Given the description of an element on the screen output the (x, y) to click on. 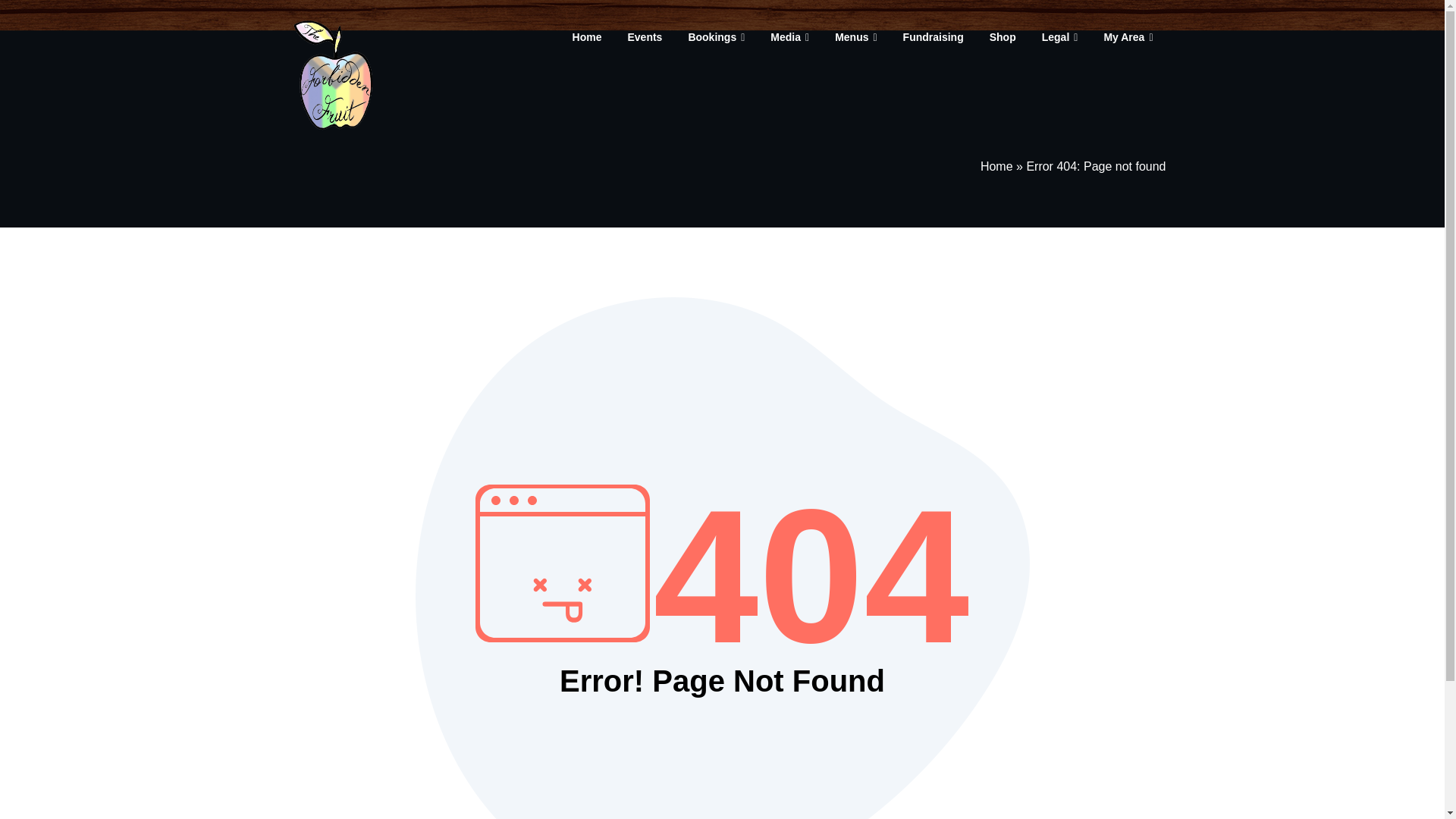
Menus (855, 36)
Media (789, 36)
Bookings (715, 36)
Home (587, 36)
Fundraising (932, 36)
Legal (1060, 36)
TFFHastings (476, 26)
Home (996, 165)
My Area (1128, 36)
Shop (1003, 36)
Events (644, 36)
